Given the description of an element on the screen output the (x, y) to click on. 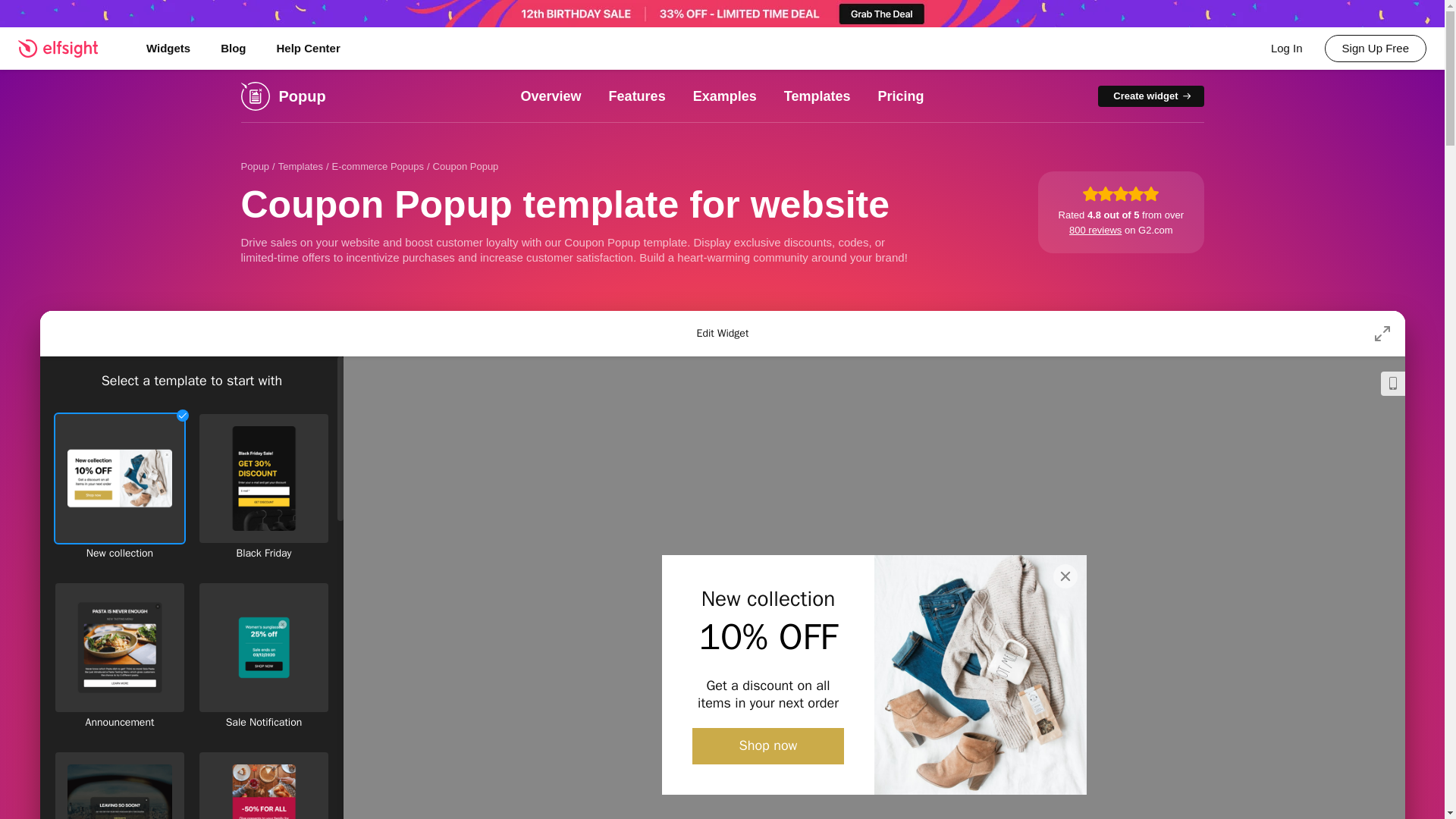
Widgets (168, 48)
Elfsight - Premium Plugins For Websites (66, 48)
Full Screen (1381, 333)
